Given the description of an element on the screen output the (x, y) to click on. 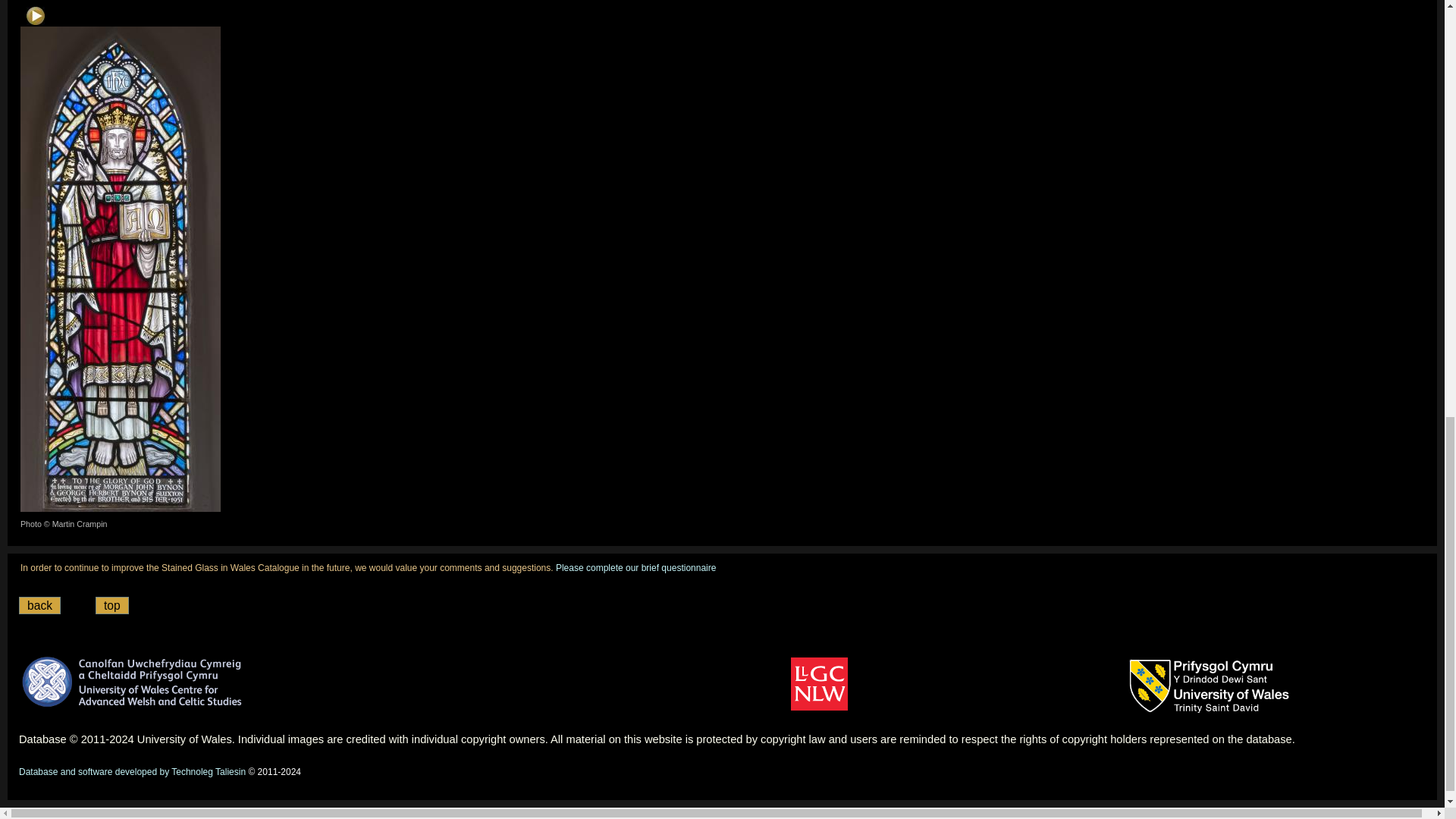
Please complete our brief questionnaire (636, 567)
next image (35, 15)
  Christ the King  (120, 268)
University of Wales, Trinity Saint David - project partner (1210, 686)
Centre for Advanced Welsh and Celtic Studies (133, 681)
back (39, 605)
National Library of Wales - project partner (818, 683)
